Given the description of an element on the screen output the (x, y) to click on. 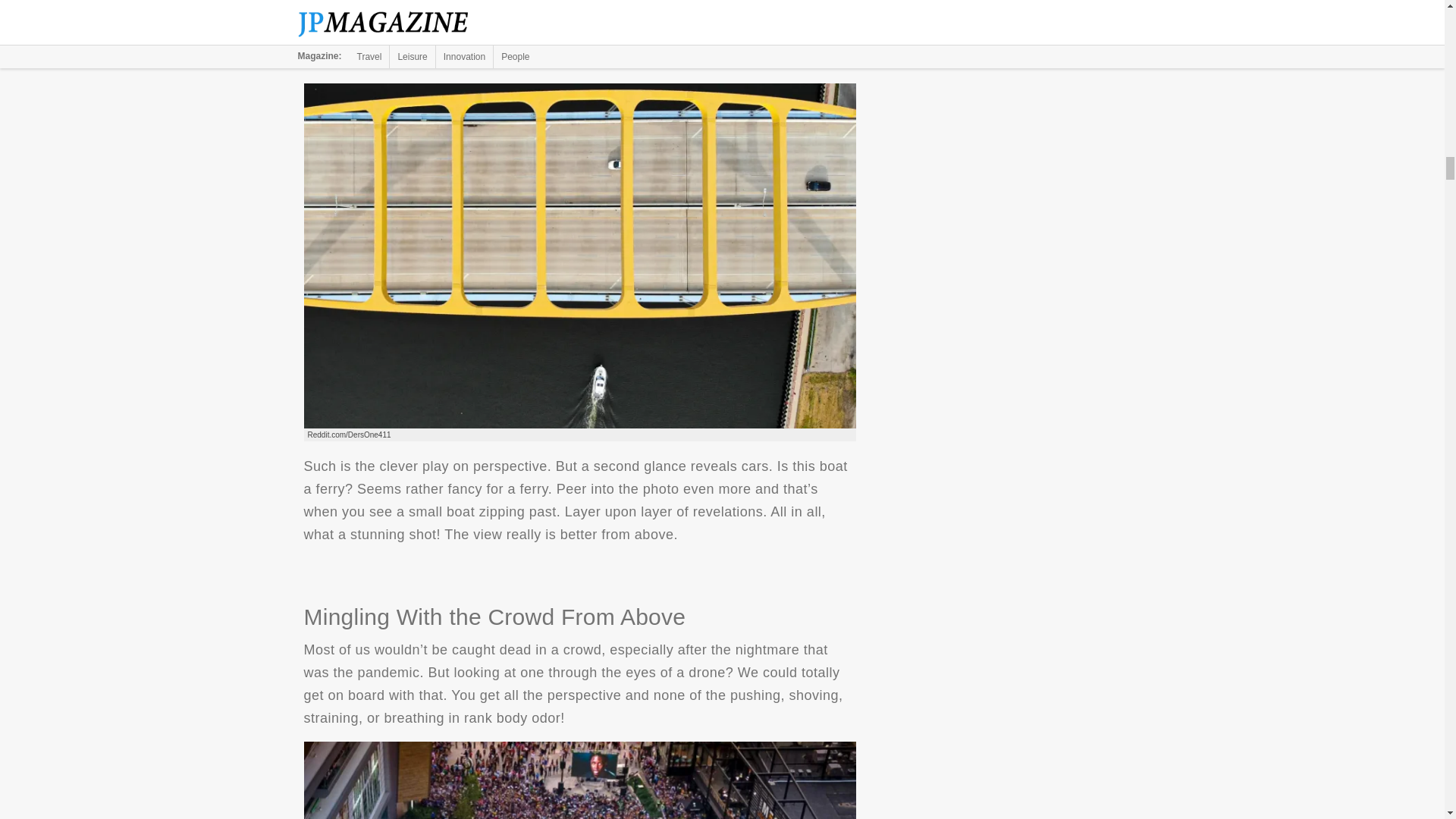
Mingling With the Crowd From Above (579, 780)
